Given the description of an element on the screen output the (x, y) to click on. 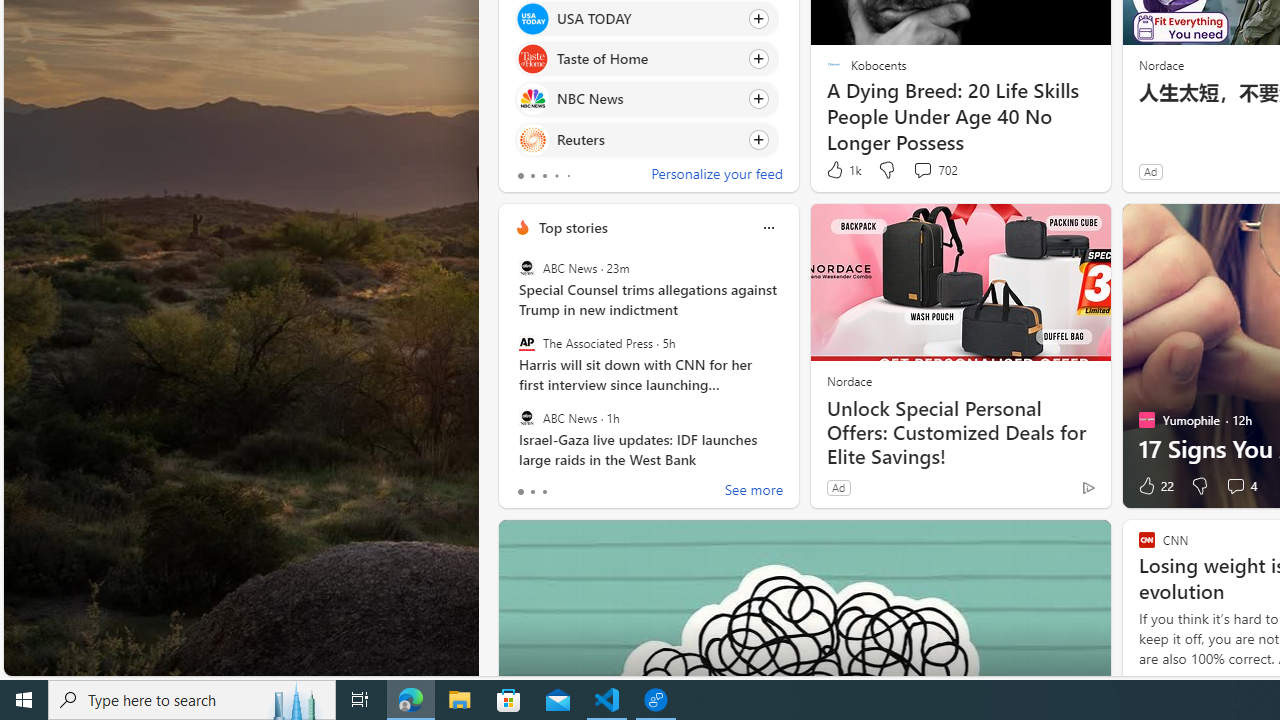
More options (768, 227)
Click to follow source Reuters (646, 138)
Click to follow source Taste of Home (646, 59)
See more (753, 491)
View comments 702 Comment (934, 170)
Personalize your feed (716, 175)
1k Like (842, 170)
USA TODAY (532, 18)
View comments 702 Comment (922, 169)
tab-4 (567, 175)
tab-0 (520, 491)
Top stories (572, 227)
Ad (838, 487)
Reuters (532, 139)
